Given the description of an element on the screen output the (x, y) to click on. 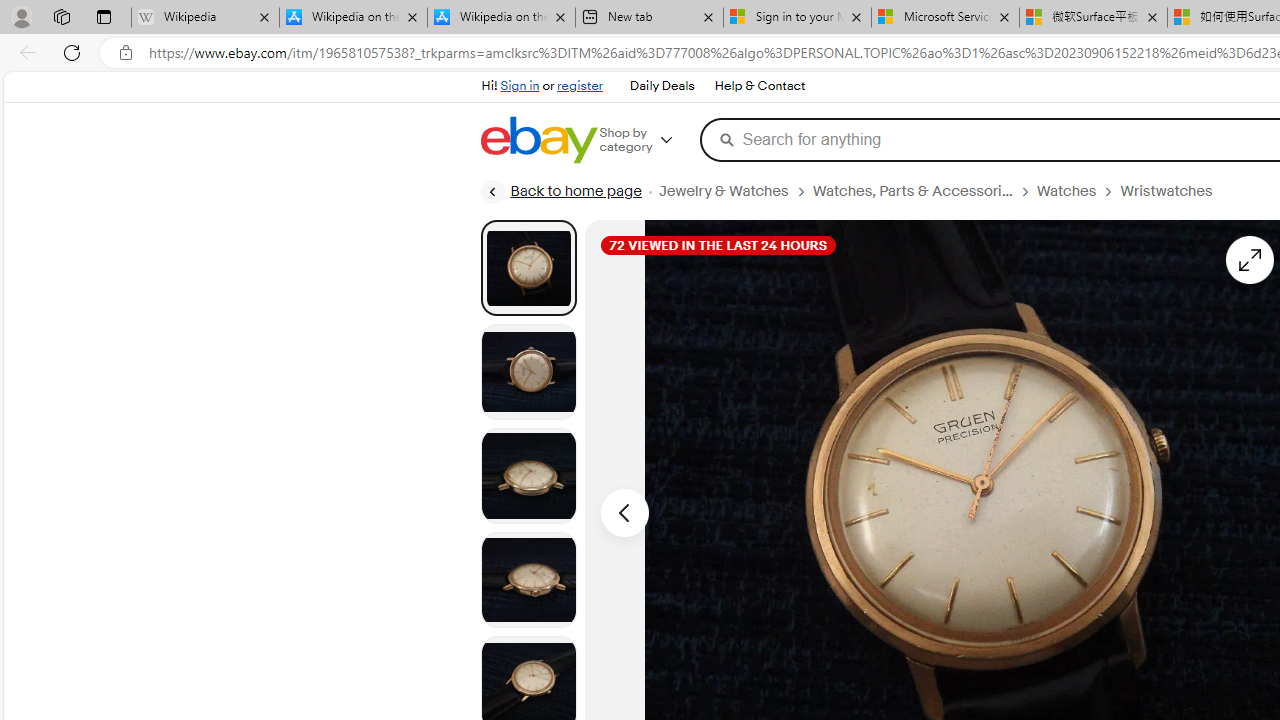
register (579, 85)
Help & Contact (760, 86)
Help & Contact (758, 85)
Picture 4 of 8 (528, 579)
Jewelry & Watches (734, 191)
Watches (1065, 191)
Wristwatches (1166, 191)
Daily Deals (661, 85)
Previous image - Item images thumbnails (624, 512)
Back to home page (561, 191)
